Given the description of an element on the screen output the (x, y) to click on. 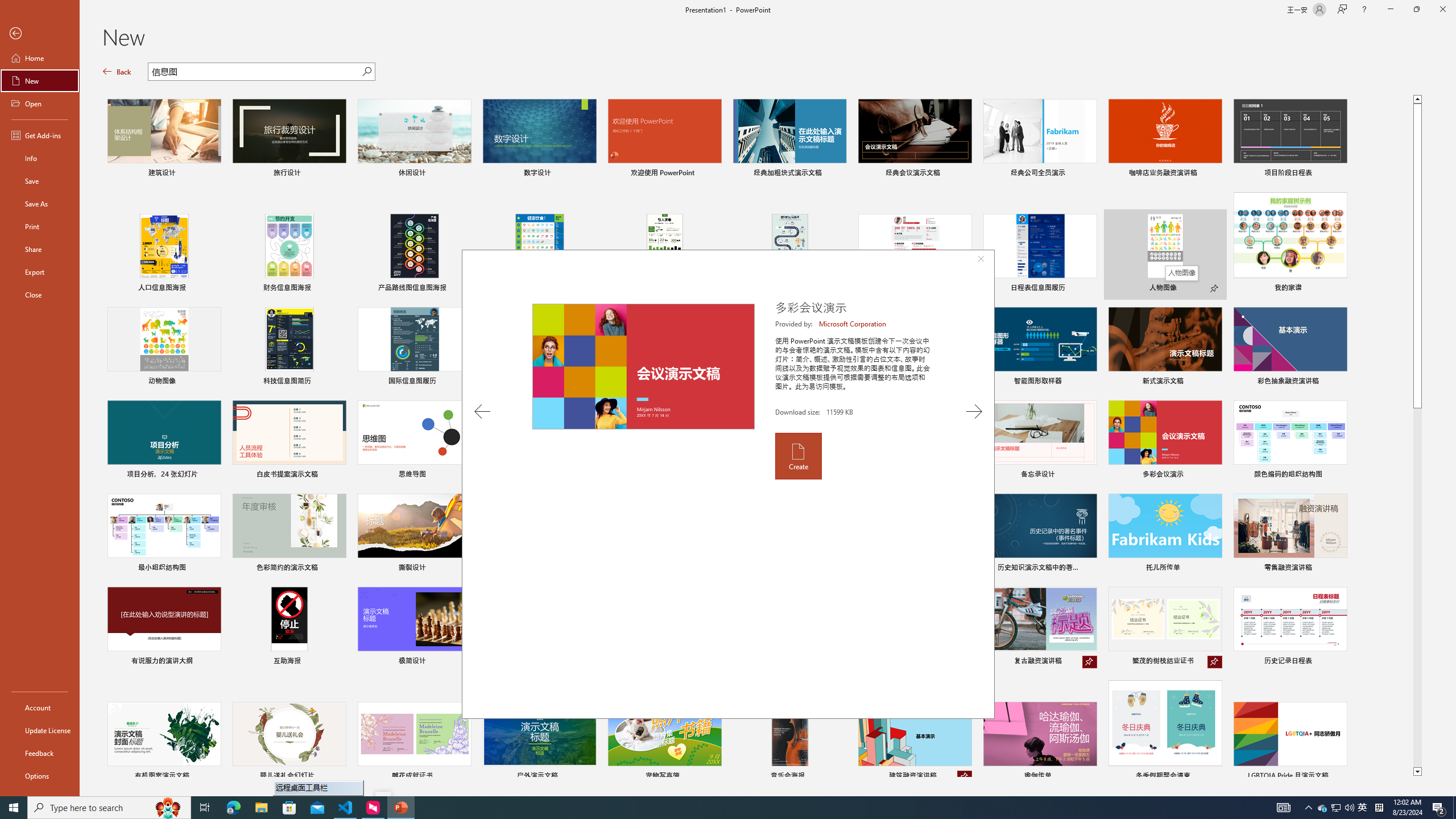
Info (40, 157)
Preview (643, 366)
Unpin from list (964, 776)
